Given the description of an element on the screen output the (x, y) to click on. 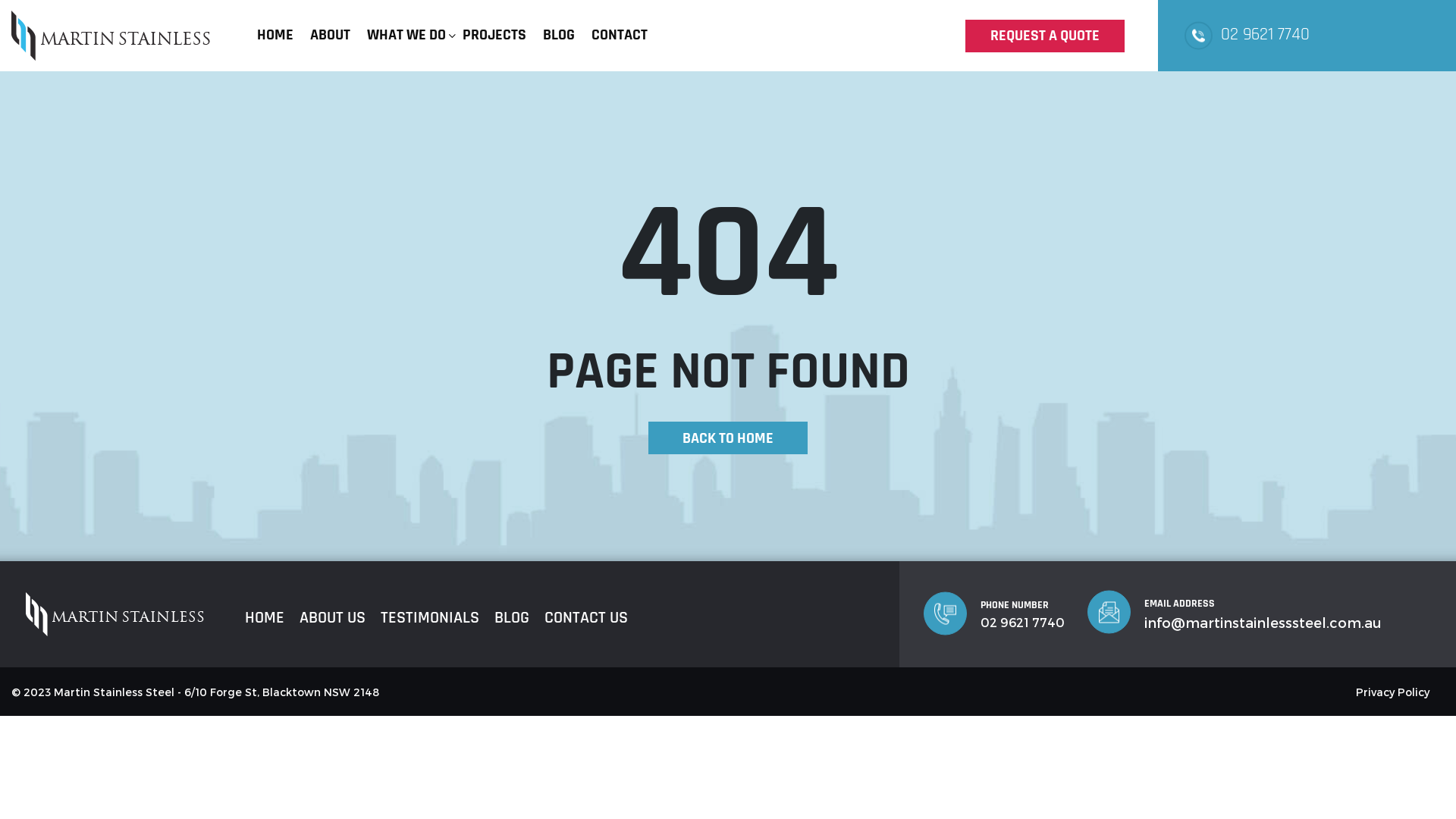
02 9621 7740 Element type: text (1022, 621)
CONTACT US Element type: text (585, 617)
HOME Element type: text (264, 617)
BACK TO HOME Element type: text (727, 437)
ABOUT US Element type: text (332, 617)
TESTIMONIALS Element type: text (429, 617)
info@martinstainlesssteel.com.au Element type: text (1262, 621)
BLOG Element type: text (558, 35)
ABOUT Element type: text (329, 35)
CONTACT Element type: text (619, 35)
BLOG Element type: text (511, 617)
PROJECTS Element type: text (494, 35)
REQUEST A QUOTE Element type: text (1044, 35)
Privacy Policy Element type: text (1392, 691)
02 9621 7740 Element type: text (1264, 34)
WHAT WE DO Element type: text (406, 35)
HOME Element type: text (274, 35)
